Given the description of an element on the screen output the (x, y) to click on. 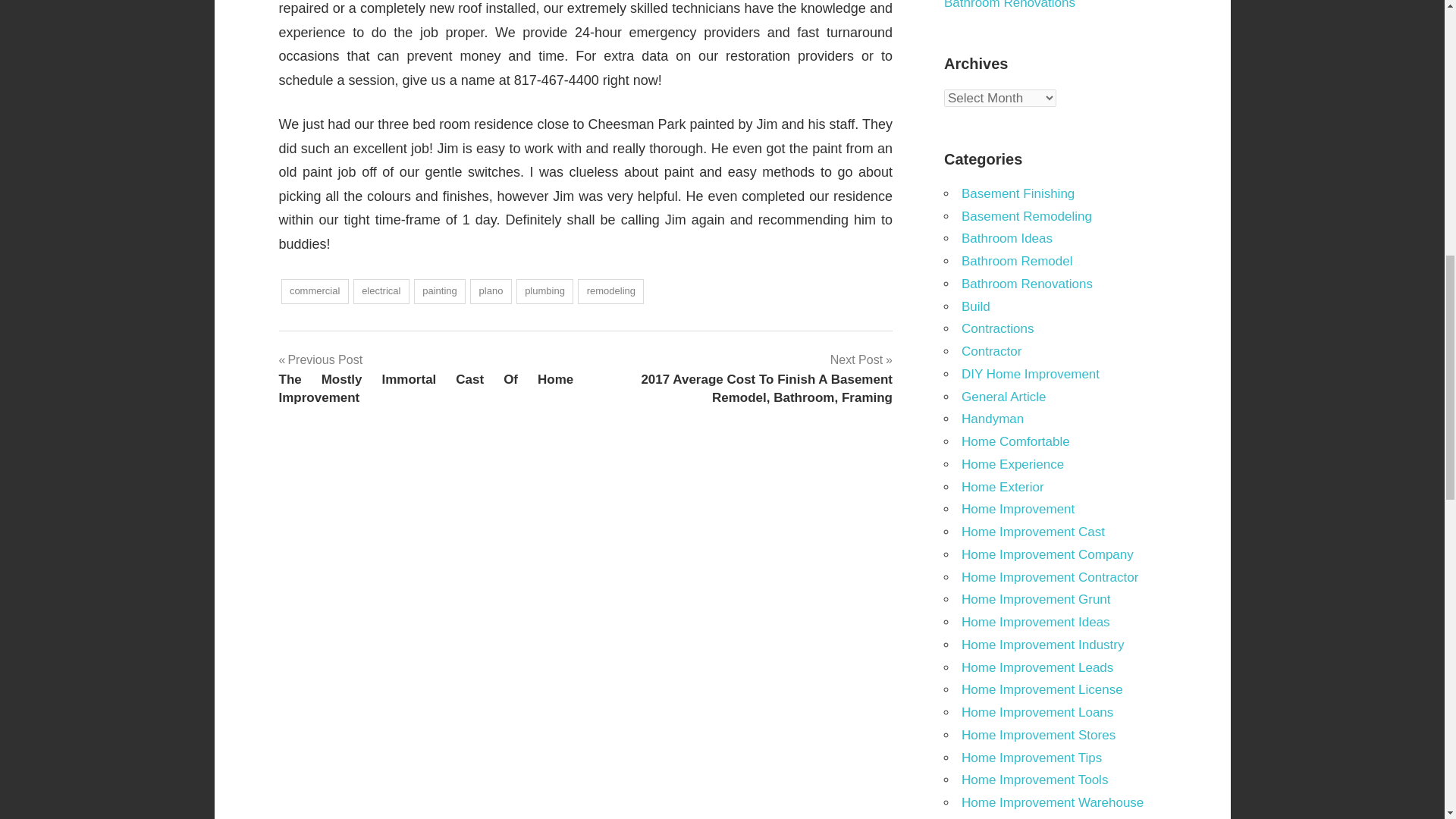
commercial (314, 291)
